Given the description of an element on the screen output the (x, y) to click on. 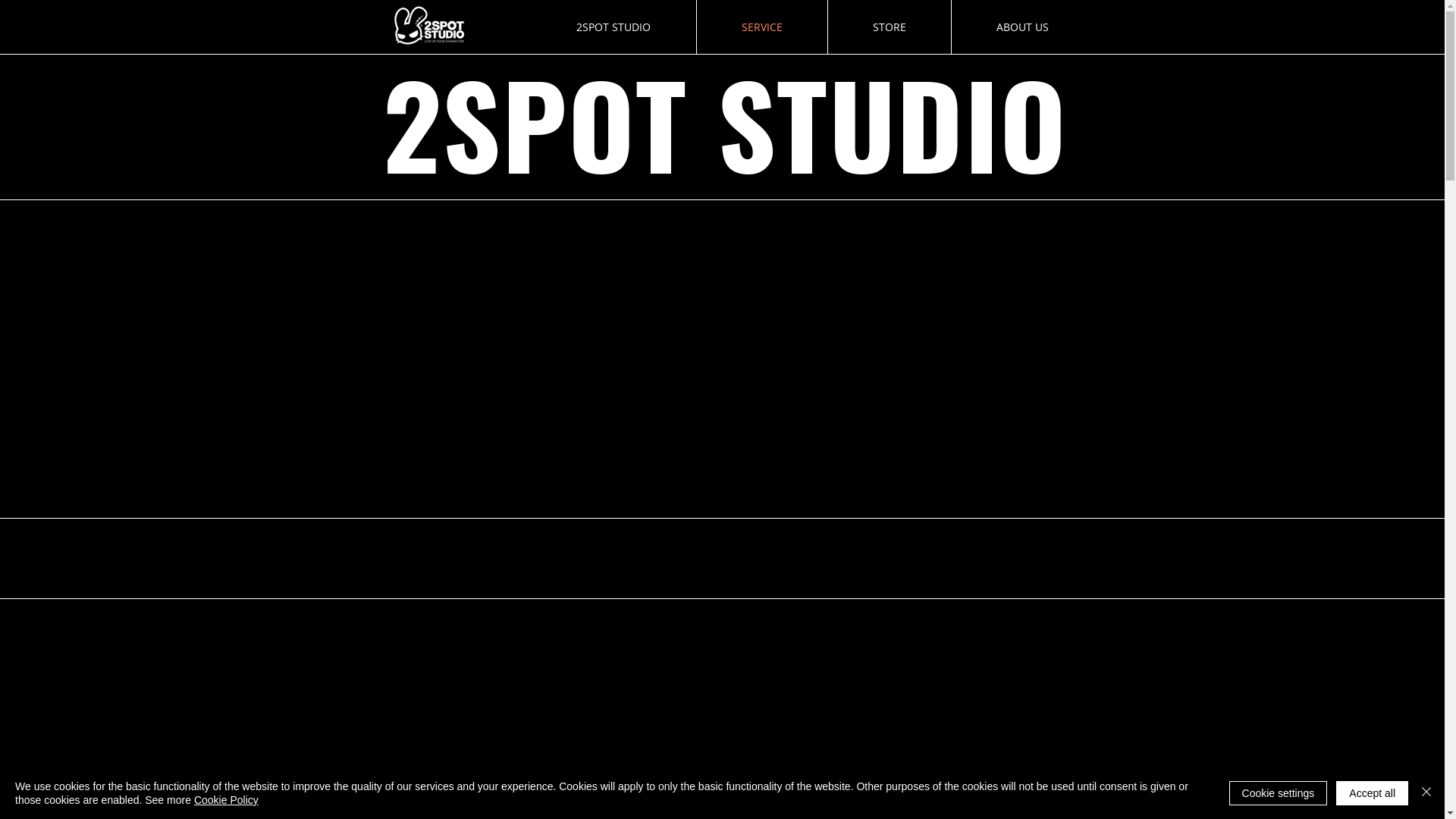
Accept all Element type: text (1372, 793)
Cookie Policy Element type: text (226, 799)
2SPOT STUDIO Element type: text (612, 27)
SERVICE Element type: text (761, 27)
Cookie settings Element type: text (1278, 793)
STORE Element type: text (889, 27)
ABOUT US Element type: text (1021, 27)
